Given the description of an element on the screen output the (x, y) to click on. 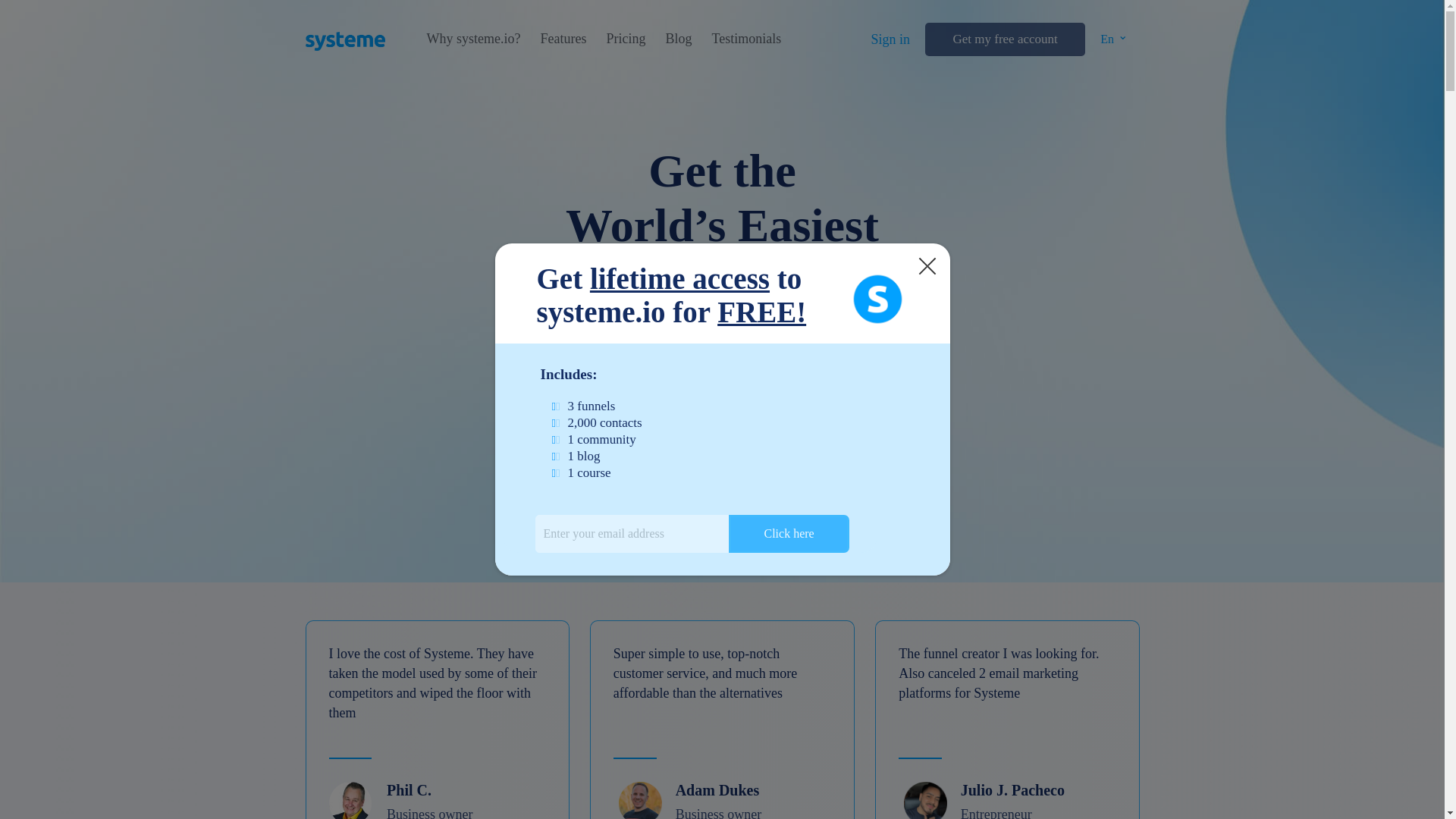
Get my free account (1004, 39)
Blog (678, 38)
Features (563, 38)
Pricing (625, 38)
Sign in (890, 39)
Why systeme.io? (472, 38)
Testimonials (745, 38)
